Given the description of an element on the screen output the (x, y) to click on. 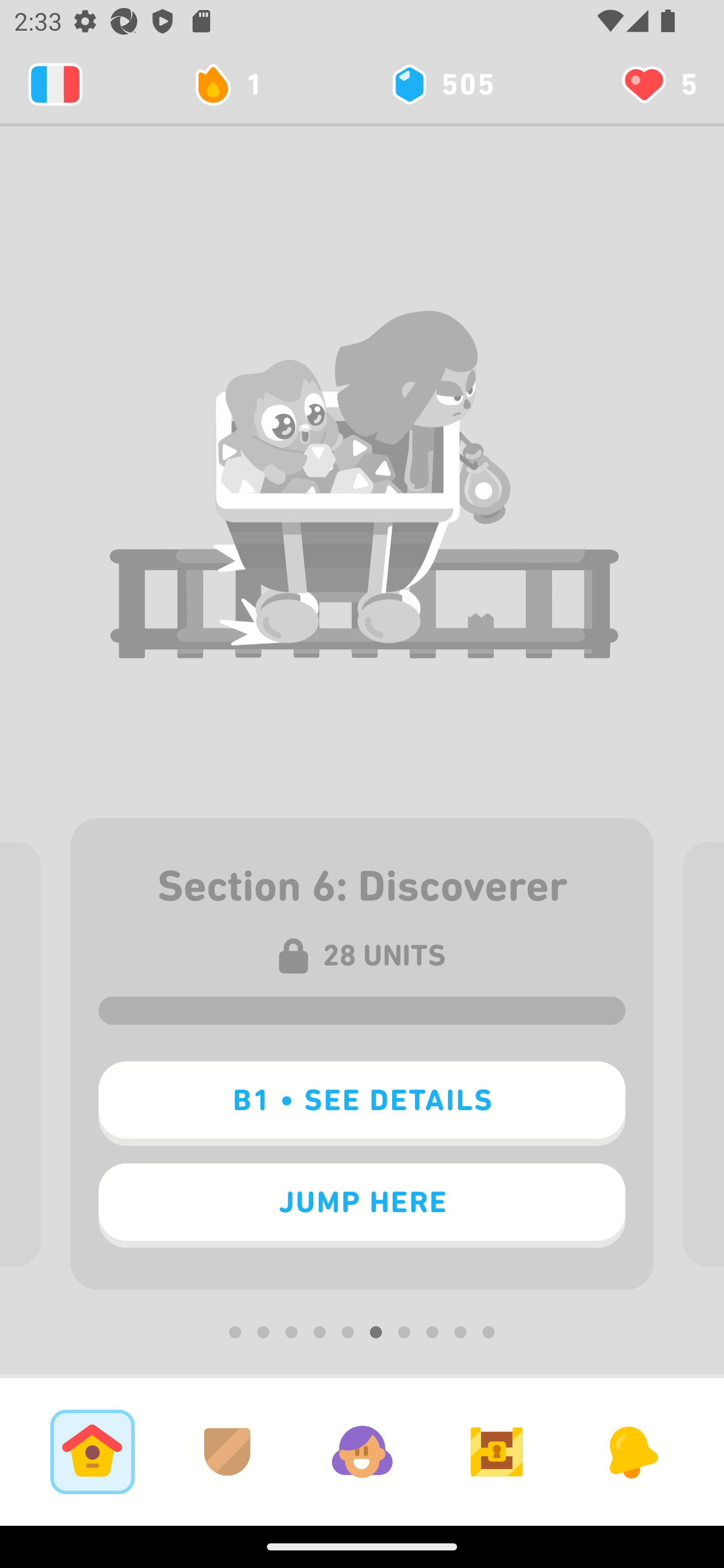
Learning 2131888976 (55, 84)
1 day streak 1 (236, 84)
505 (441, 84)
You have 5 hearts left 5 (657, 84)
B1 • SEE DETAILS (361, 1103)
JUMP HERE (361, 1205)
Learn Tab (91, 1451)
Leagues Tab (227, 1451)
Profile Tab (361, 1451)
Goals Tab (496, 1451)
News Tab (631, 1451)
